Given the description of an element on the screen output the (x, y) to click on. 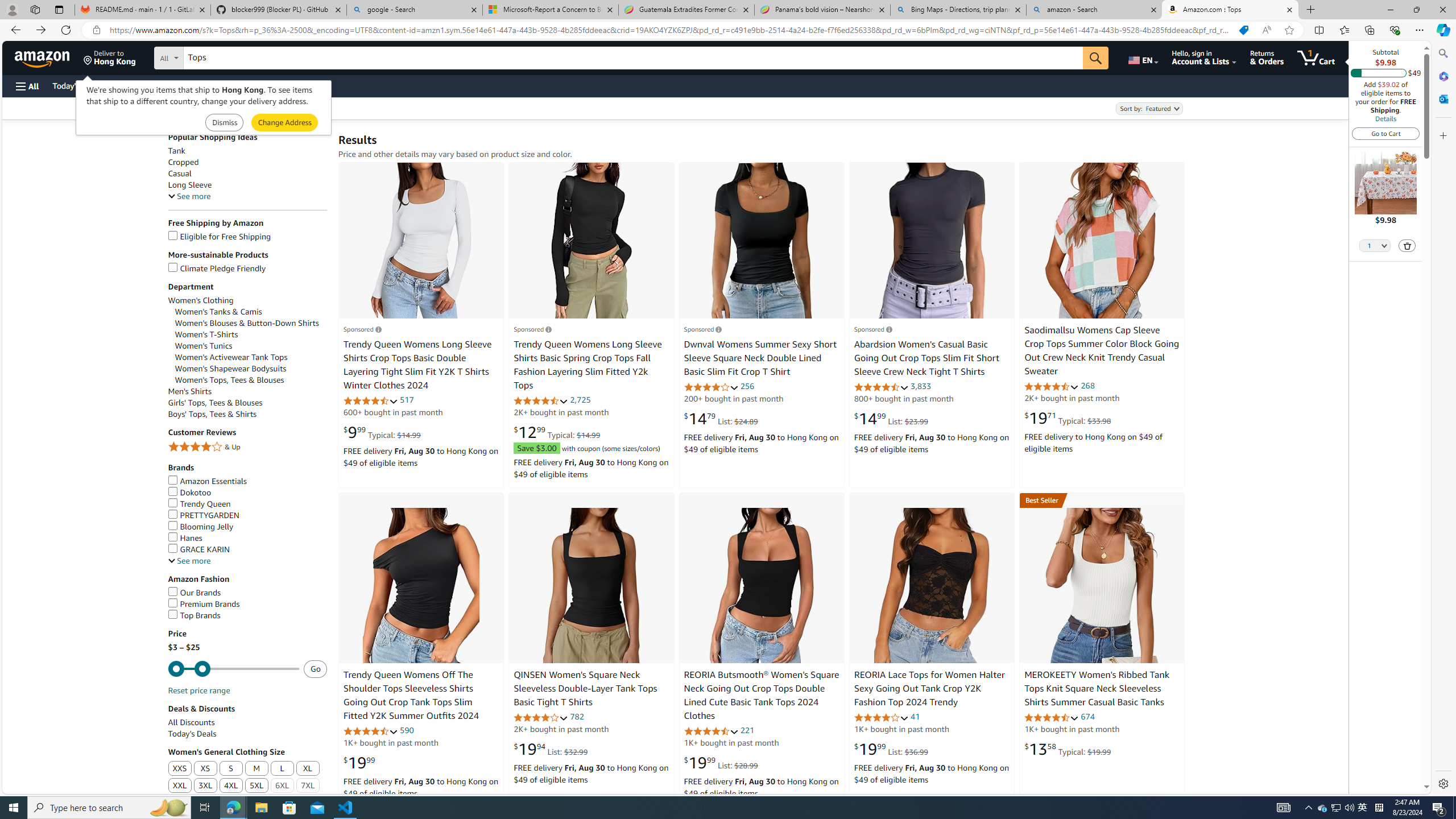
Women's T-Shirts (250, 334)
782 (576, 716)
M (255, 768)
S (230, 768)
Deliver to Hong Kong (109, 57)
Maximum (233, 668)
Tank (175, 150)
XXS (179, 768)
41 (915, 716)
1 item in cart (1315, 57)
XXS (179, 768)
Eligible for Free Shipping (218, 236)
